Given the description of an element on the screen output the (x, y) to click on. 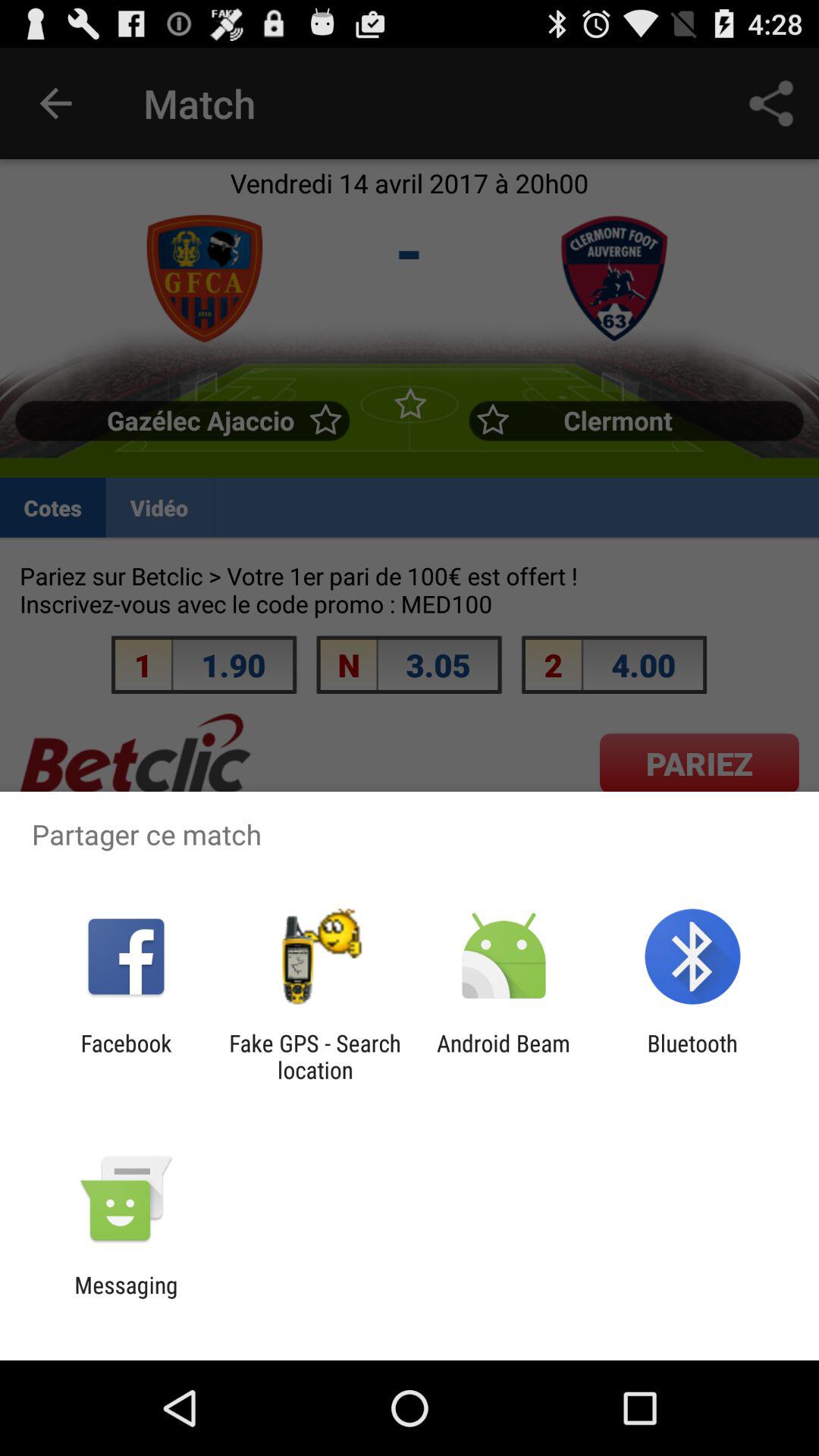
tap app to the right of the fake gps search (503, 1056)
